Given the description of an element on the screen output the (x, y) to click on. 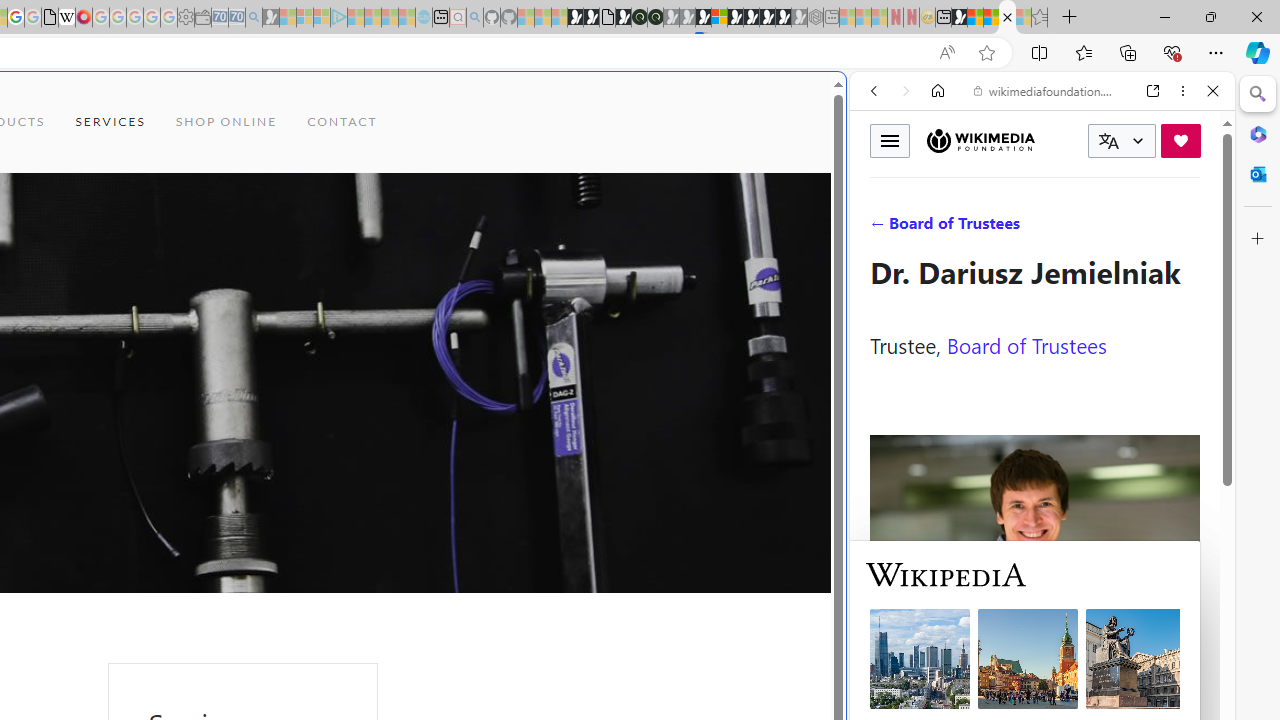
MediaWiki (83, 17)
Board of Trustees (1026, 344)
SHOP ONLINE (226, 122)
Earth has six continents not seven, radical new study claims (991, 17)
World - MSN (975, 17)
Wiktionary (1034, 669)
